Given the description of an element on the screen output the (x, y) to click on. 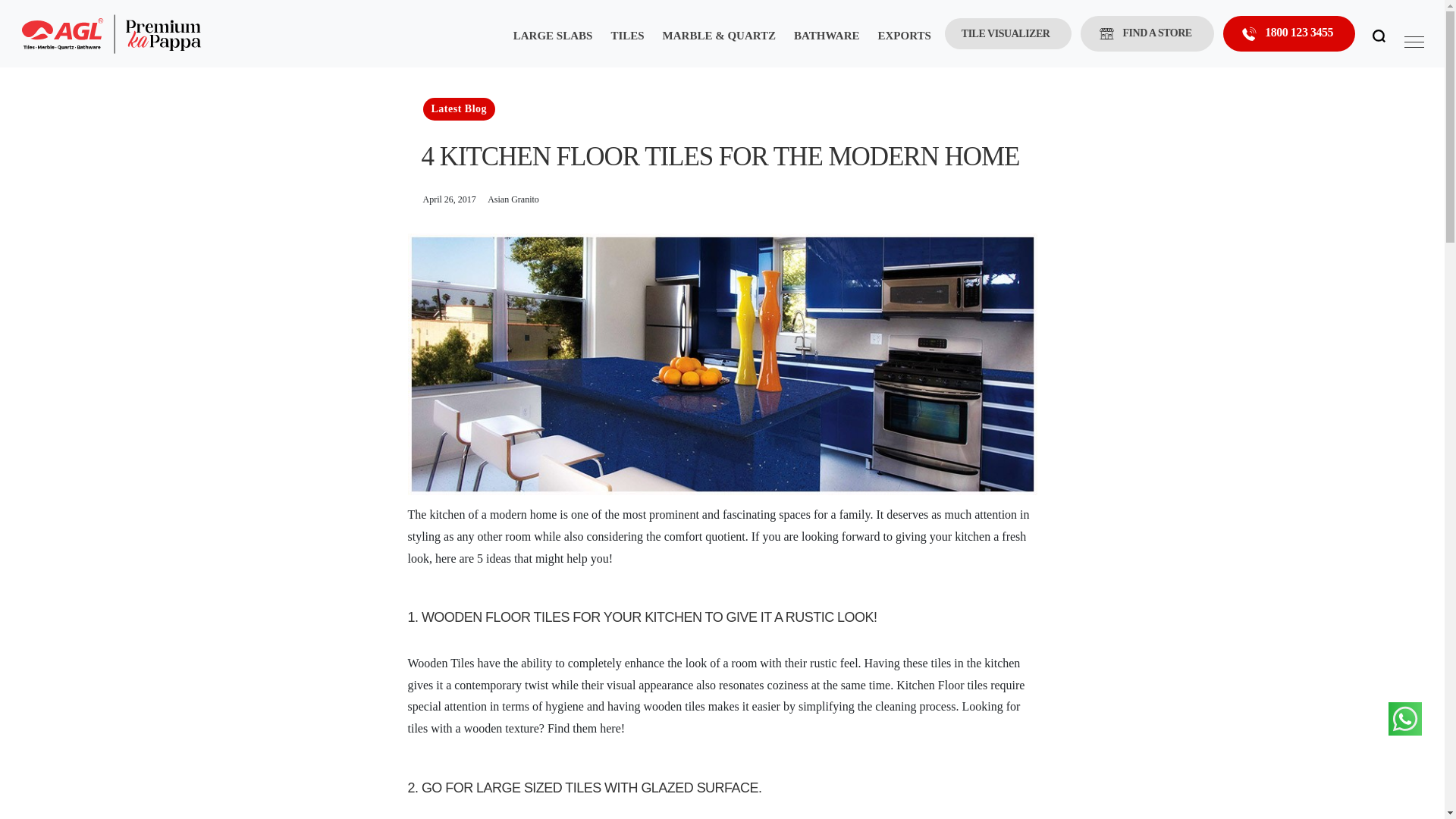
Latest Blog (459, 108)
TILES (626, 45)
LARGE SLABS (552, 45)
AGL Tiles India (111, 33)
Asian Granito (512, 199)
